Given the description of an element on the screen output the (x, y) to click on. 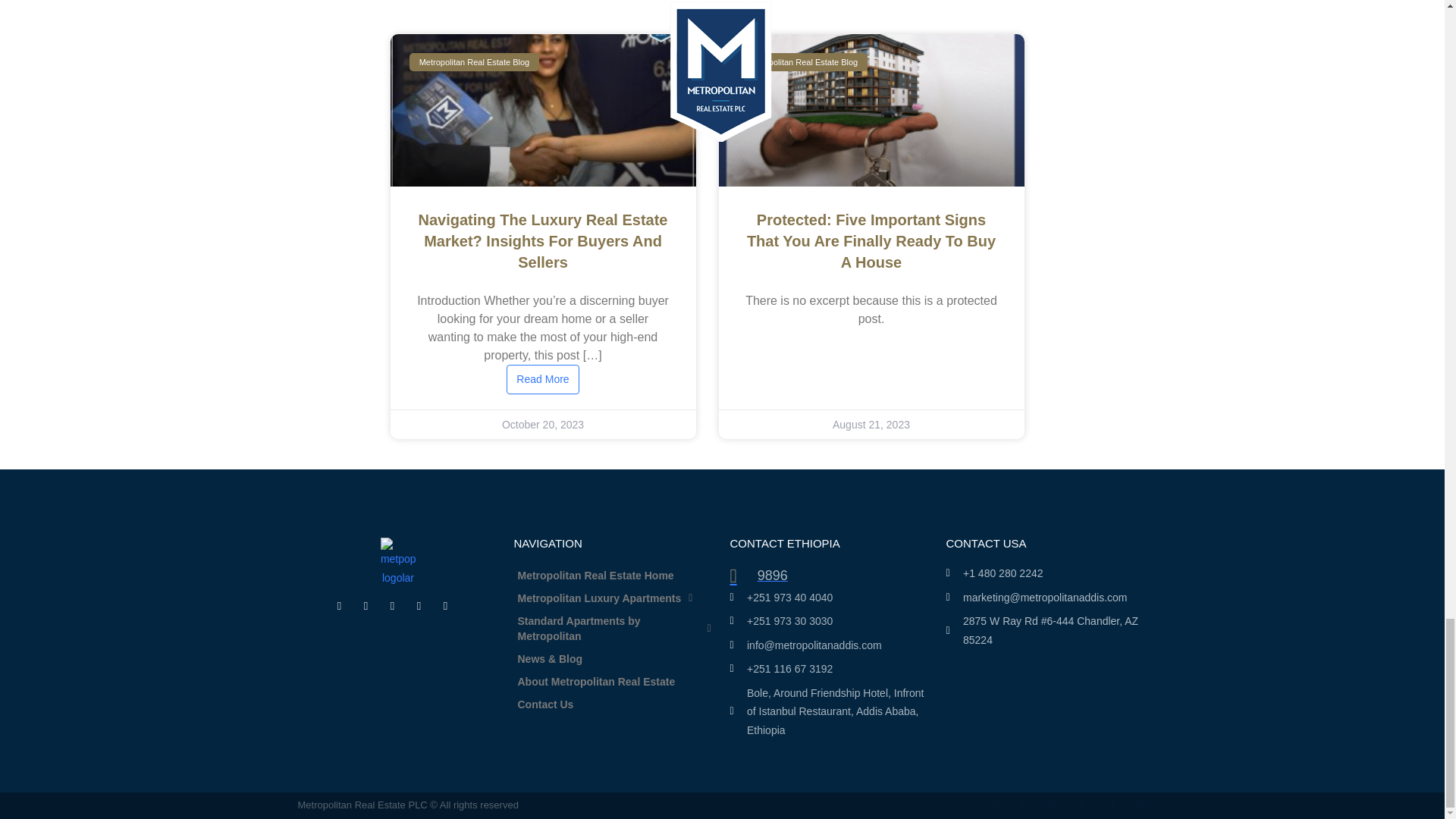
Metropolitan Real Estate Home (613, 575)
Read More (542, 378)
Metropolitan Luxury Apartments (613, 598)
